Given the description of an element on the screen output the (x, y) to click on. 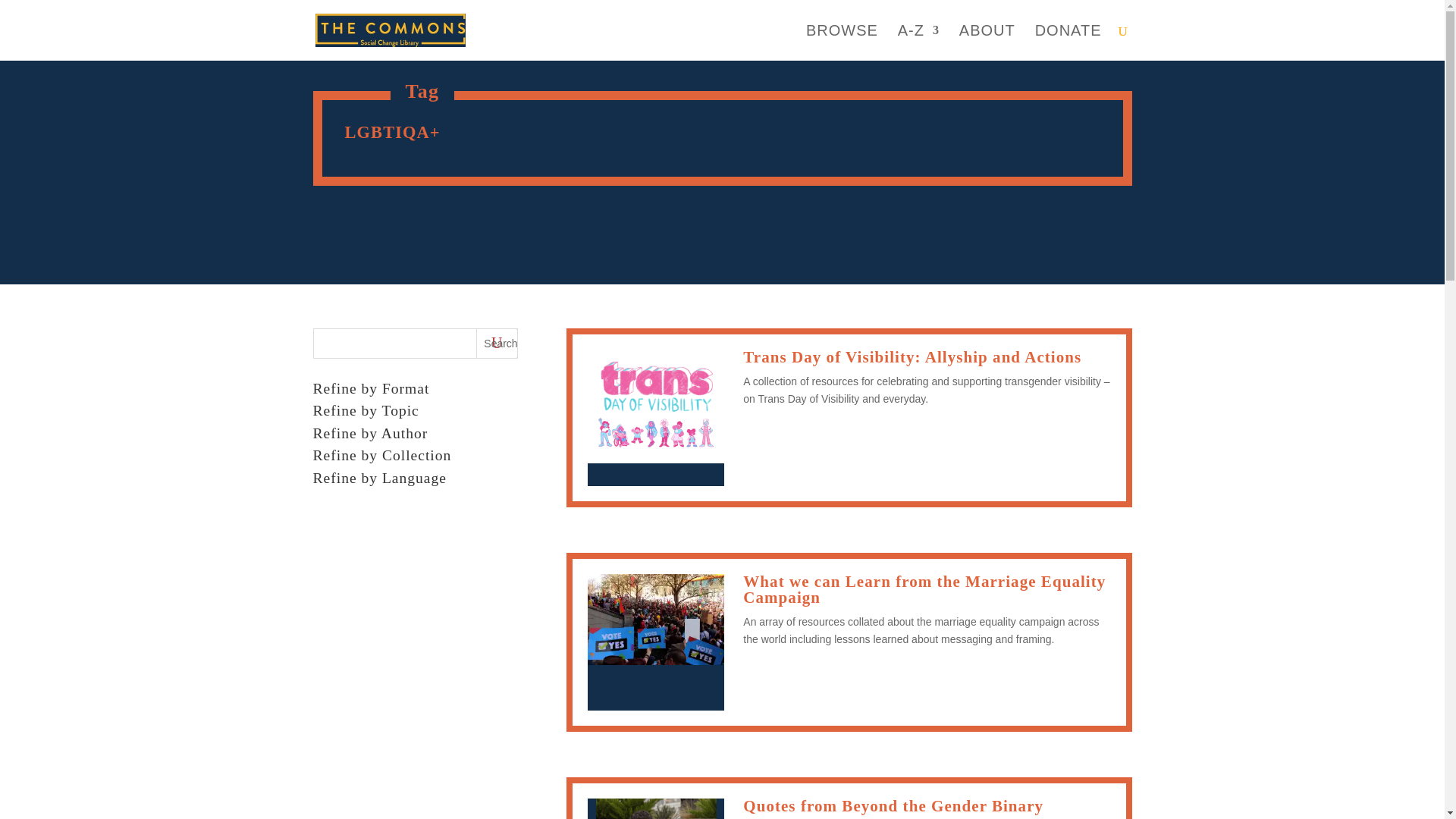
What we can Learn from the Marriage Equality Campaign (923, 589)
ABOUT (986, 42)
Quotes from Beyond the Gender Binary (892, 805)
Search (497, 343)
BROWSE (841, 42)
Search (497, 343)
Trans Day of Visibility: Allyship and Actions (911, 357)
A-Z (918, 42)
DONATE (1068, 42)
